Given the description of an element on the screen output the (x, y) to click on. 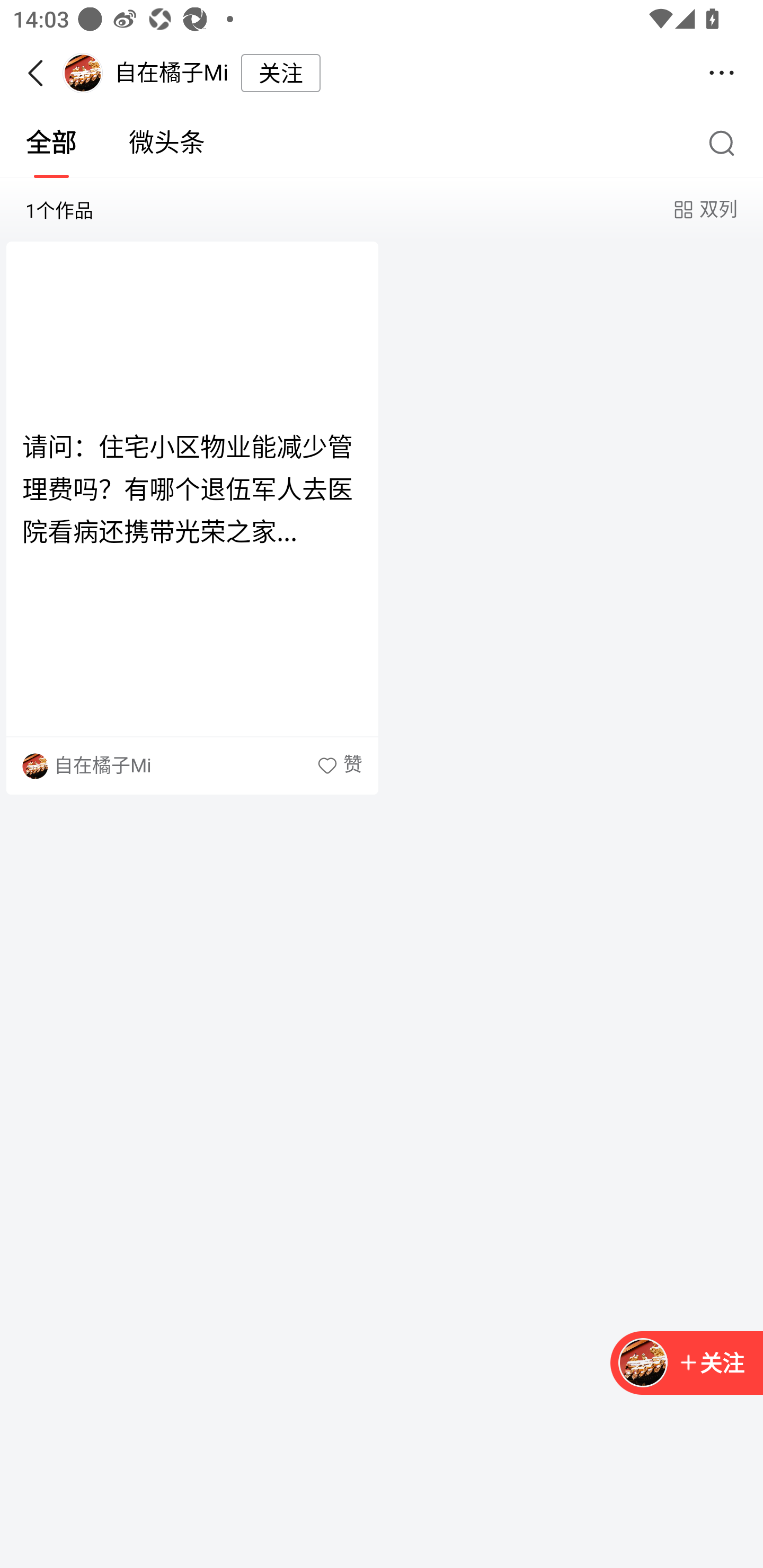
返回 (41, 72)
更多操作 (721, 72)
关注 (280, 72)
全部 (51, 143)
微头条 (167, 143)
搜索 (726, 142)
双列 当前双列点按切换至单列 (703, 209)
    关注 (686, 1363)
    关注 (711, 1362)
